Given the description of an element on the screen output the (x, y) to click on. 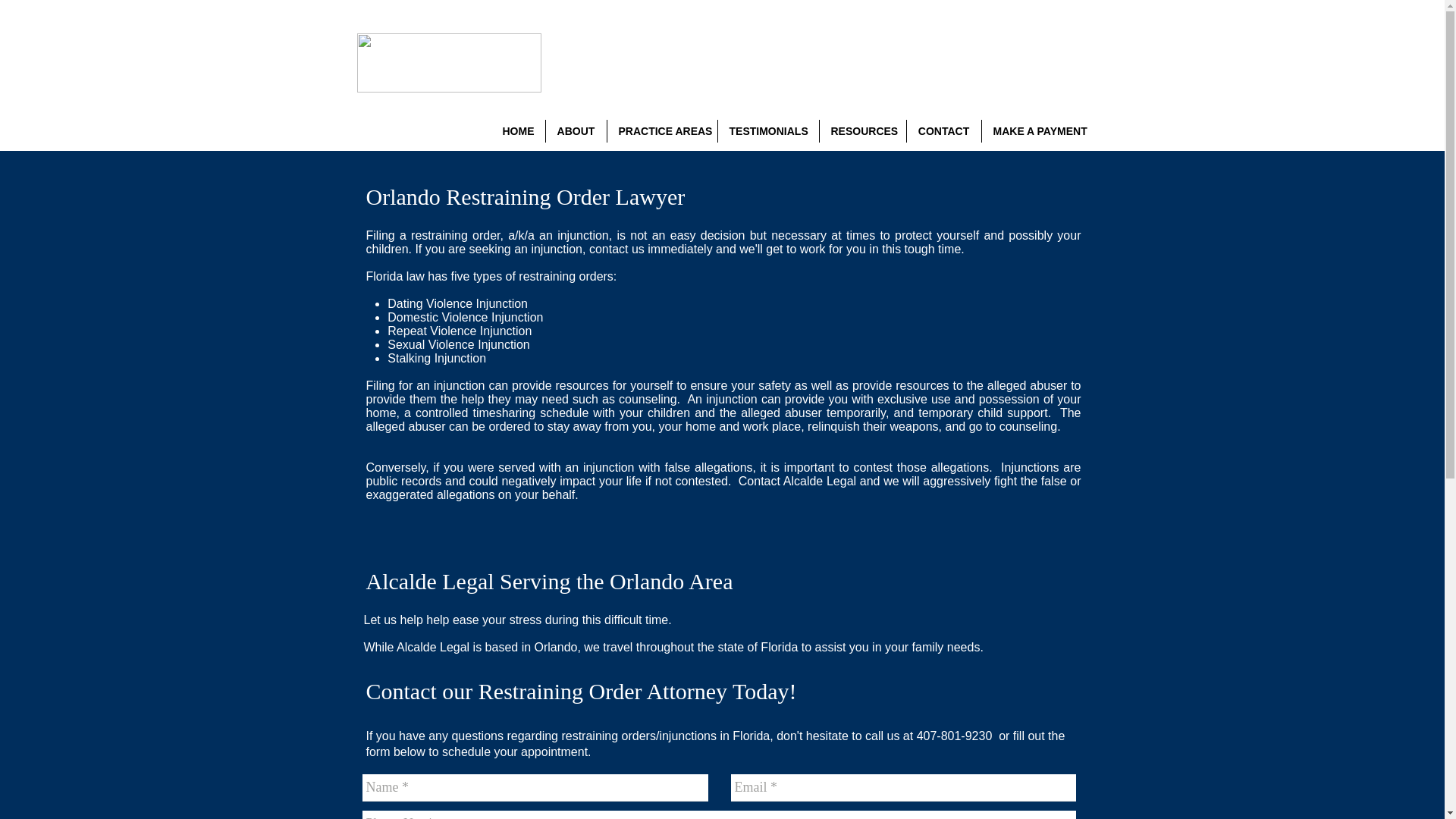
TESTIMONIALS (767, 130)
ABOUT (576, 130)
CONTACT (944, 130)
MAKE A PAYMENT (1037, 130)
PRACTICE AREAS (661, 130)
HOME (518, 130)
RESOURCES (861, 130)
